Given the description of an element on the screen output the (x, y) to click on. 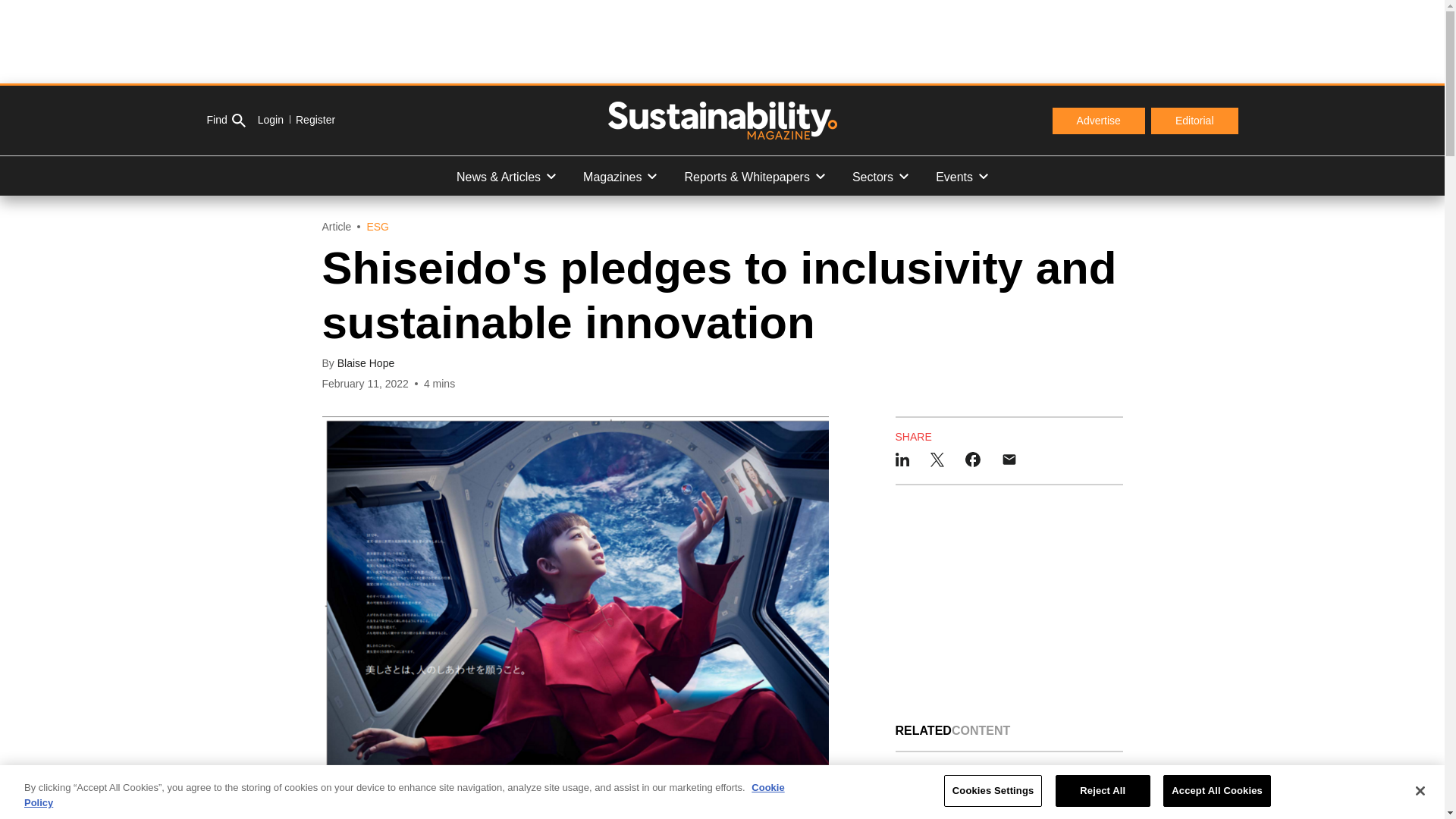
3rd party ad content (1008, 604)
Register (308, 120)
Advertise (1098, 121)
Find (225, 120)
Events (961, 175)
Login (270, 120)
Sectors (879, 175)
Editorial (1195, 121)
3rd party ad content (721, 41)
Magazines (619, 175)
